Given the description of an element on the screen output the (x, y) to click on. 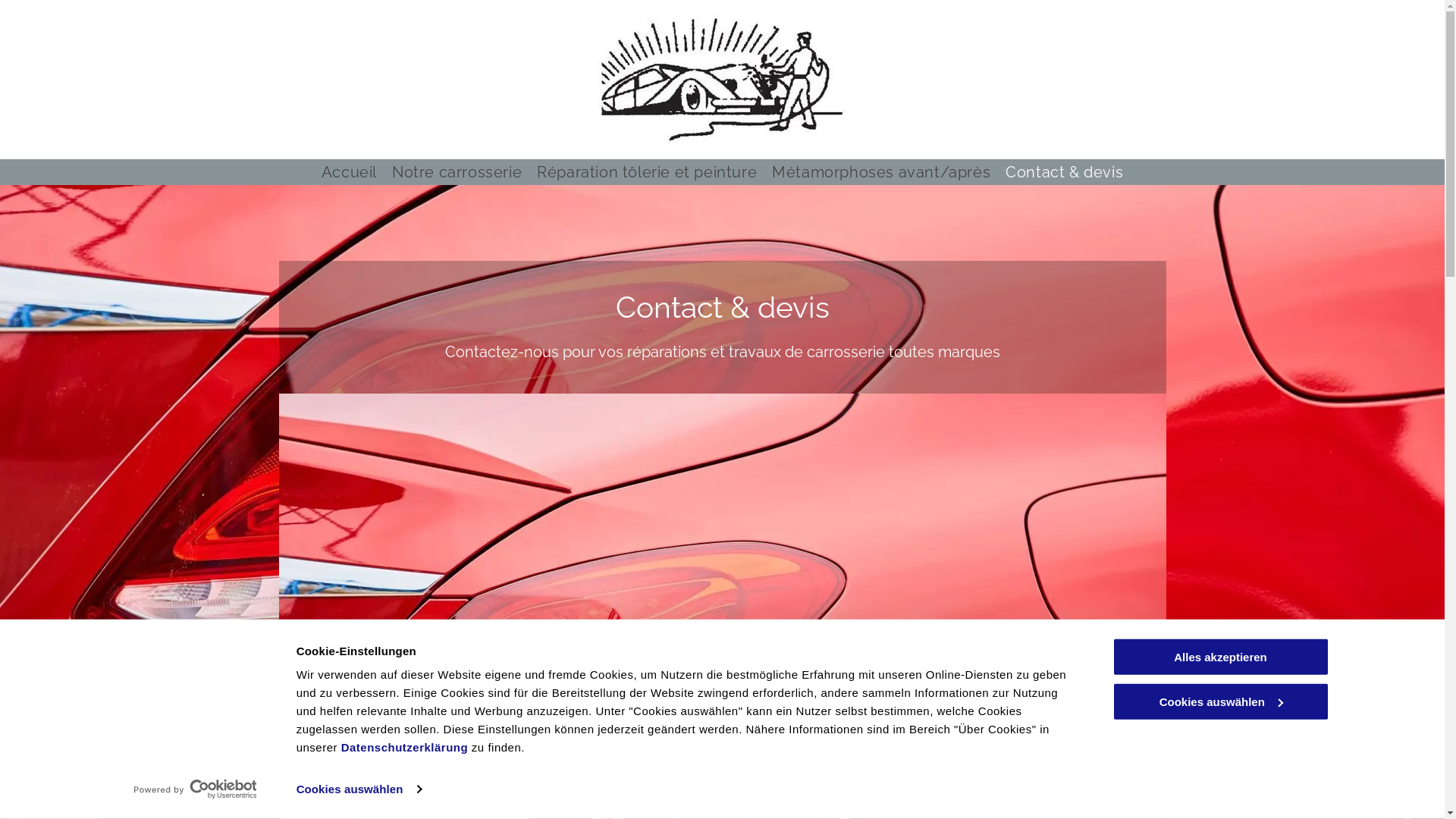
Contact & devis Element type: text (1063, 172)
Notre carrosserie Element type: text (456, 172)
Accueil Element type: text (348, 172)
Alles akzeptieren Element type: text (1219, 656)
